Given the description of an element on the screen output the (x, y) to click on. 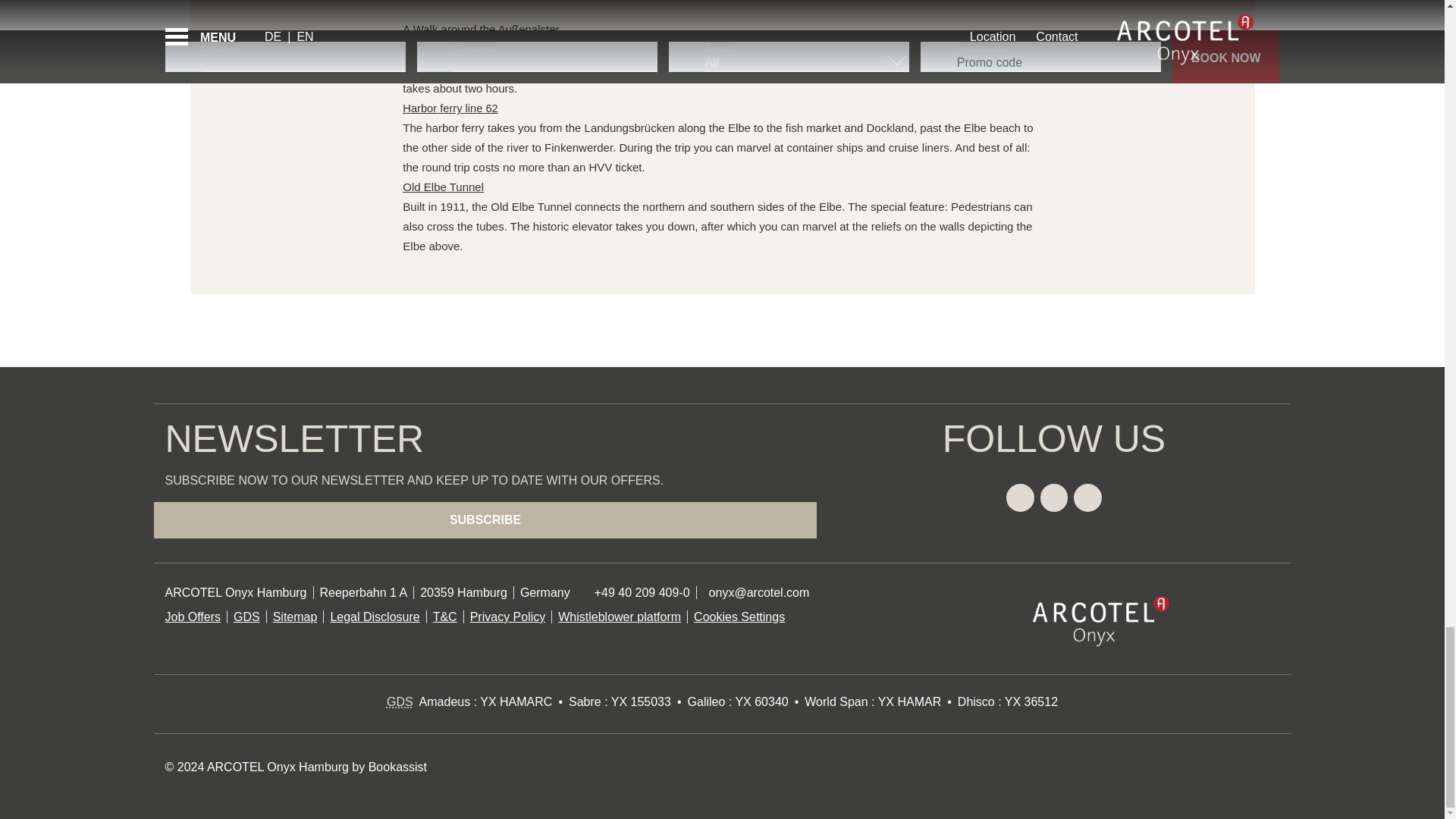
Global Distribution System (400, 701)
